Given the description of an element on the screen output the (x, y) to click on. 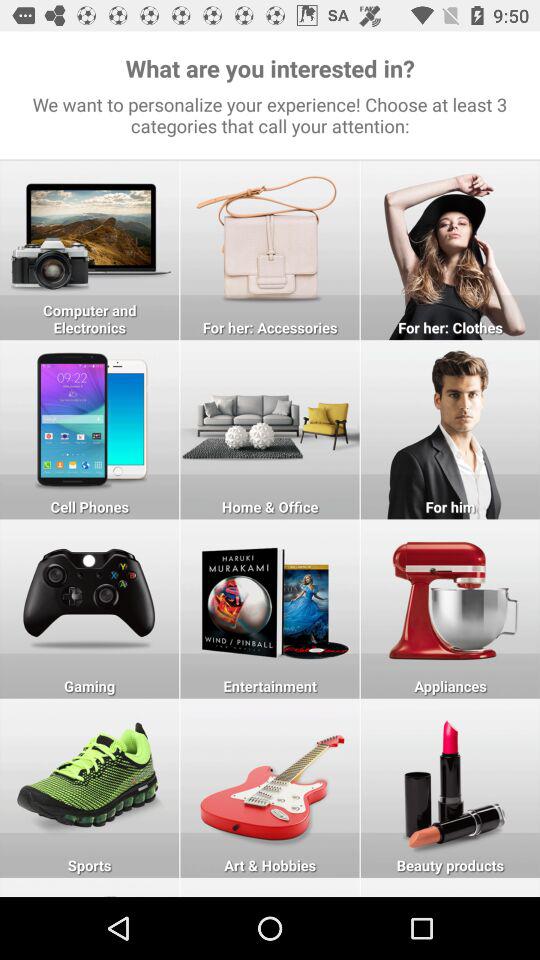
select beauty products (450, 787)
